Given the description of an element on the screen output the (x, y) to click on. 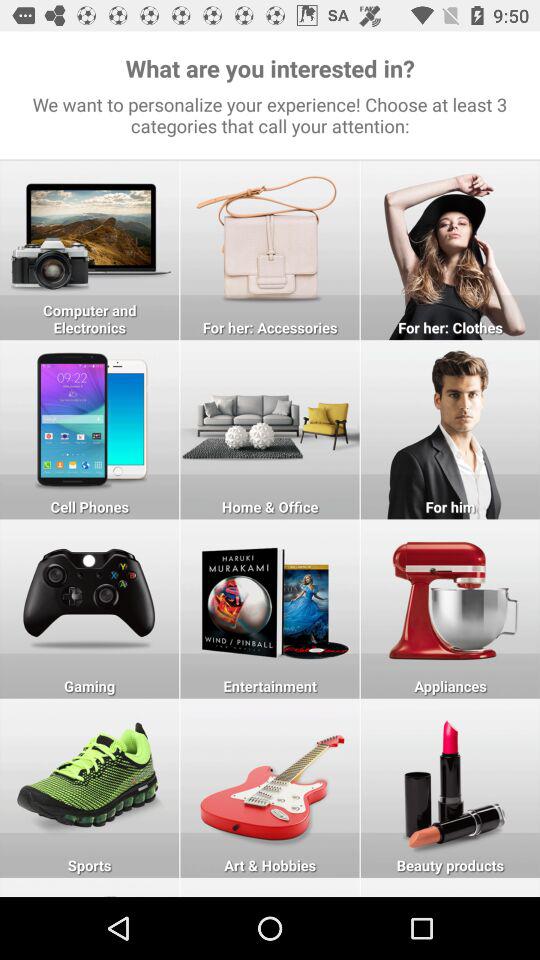
select beauty products (450, 787)
